Given the description of an element on the screen output the (x, y) to click on. 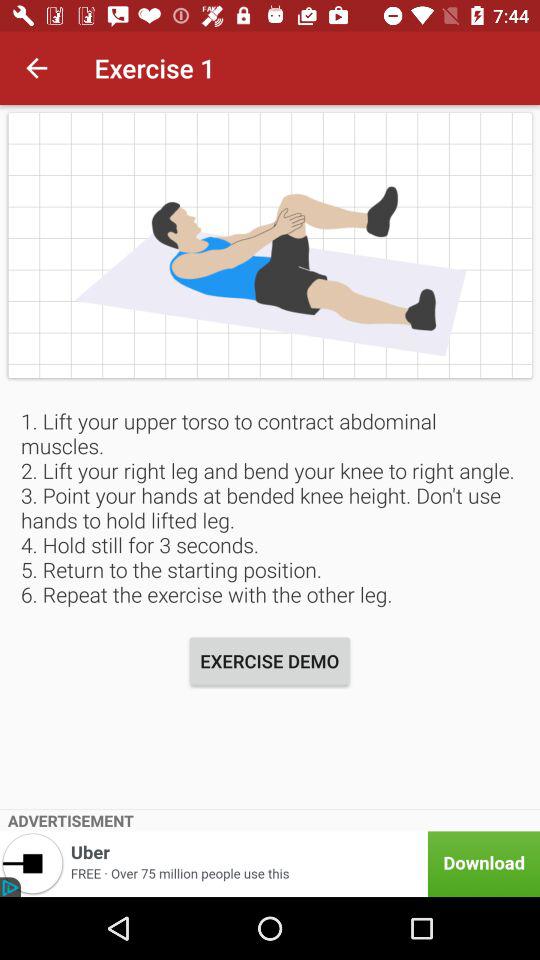
tap app next to exercise 1 icon (36, 68)
